Given the description of an element on the screen output the (x, y) to click on. 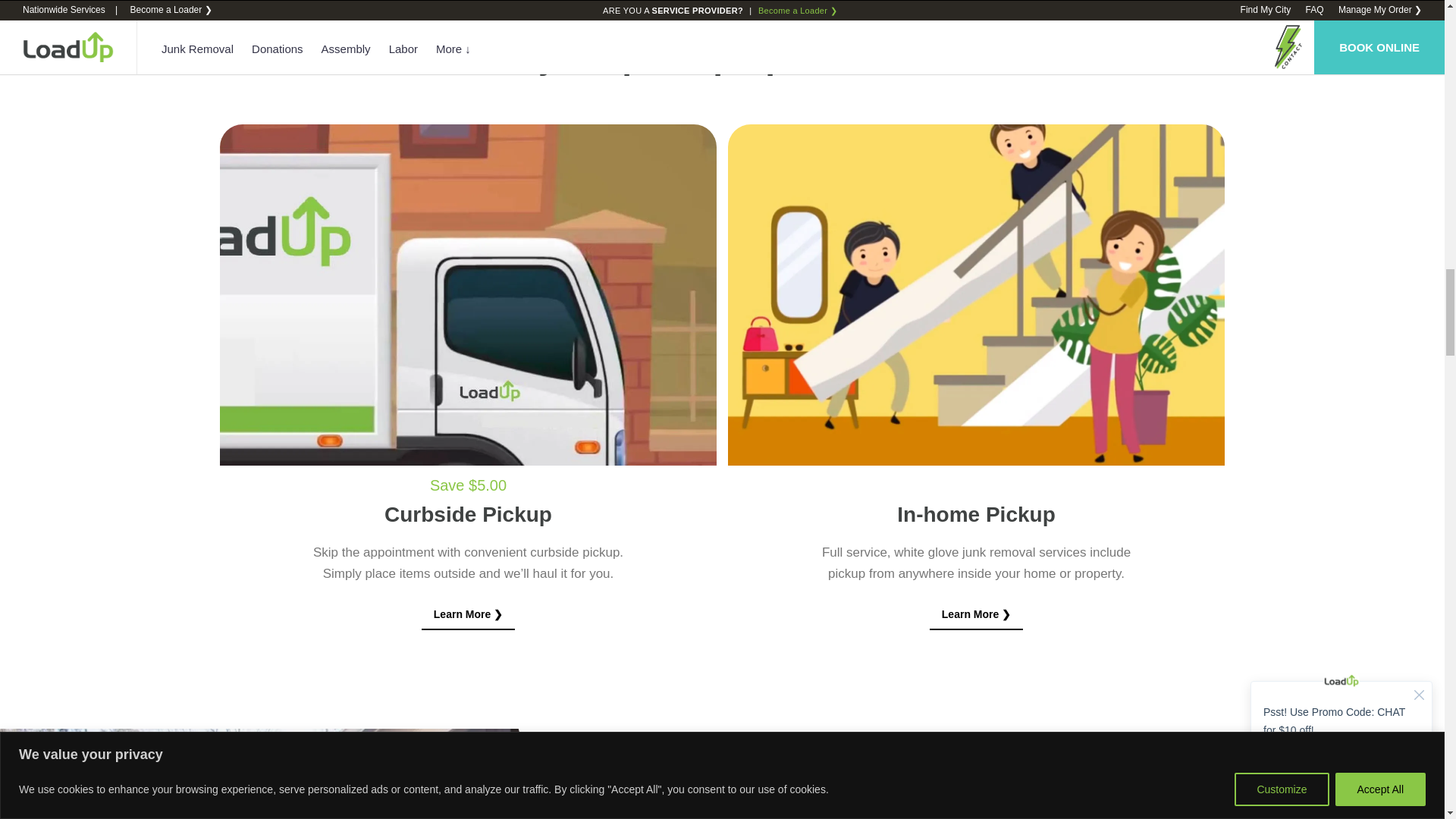
Learn more about our in-home junk pickup services (976, 614)
Learn more about our curbside pickup services (468, 614)
